Given the description of an element on the screen output the (x, y) to click on. 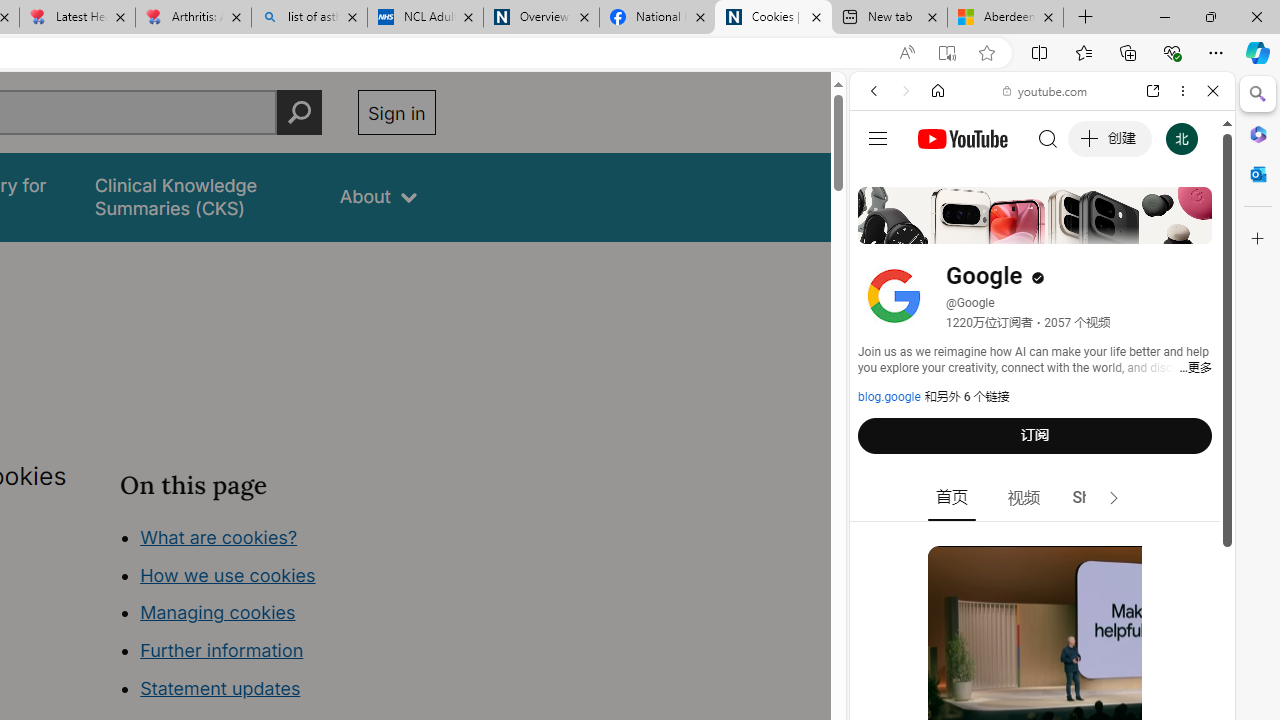
About (378, 196)
About (378, 196)
What are cookies? (218, 536)
Managing cookies (217, 612)
